Given the description of an element on the screen output the (x, y) to click on. 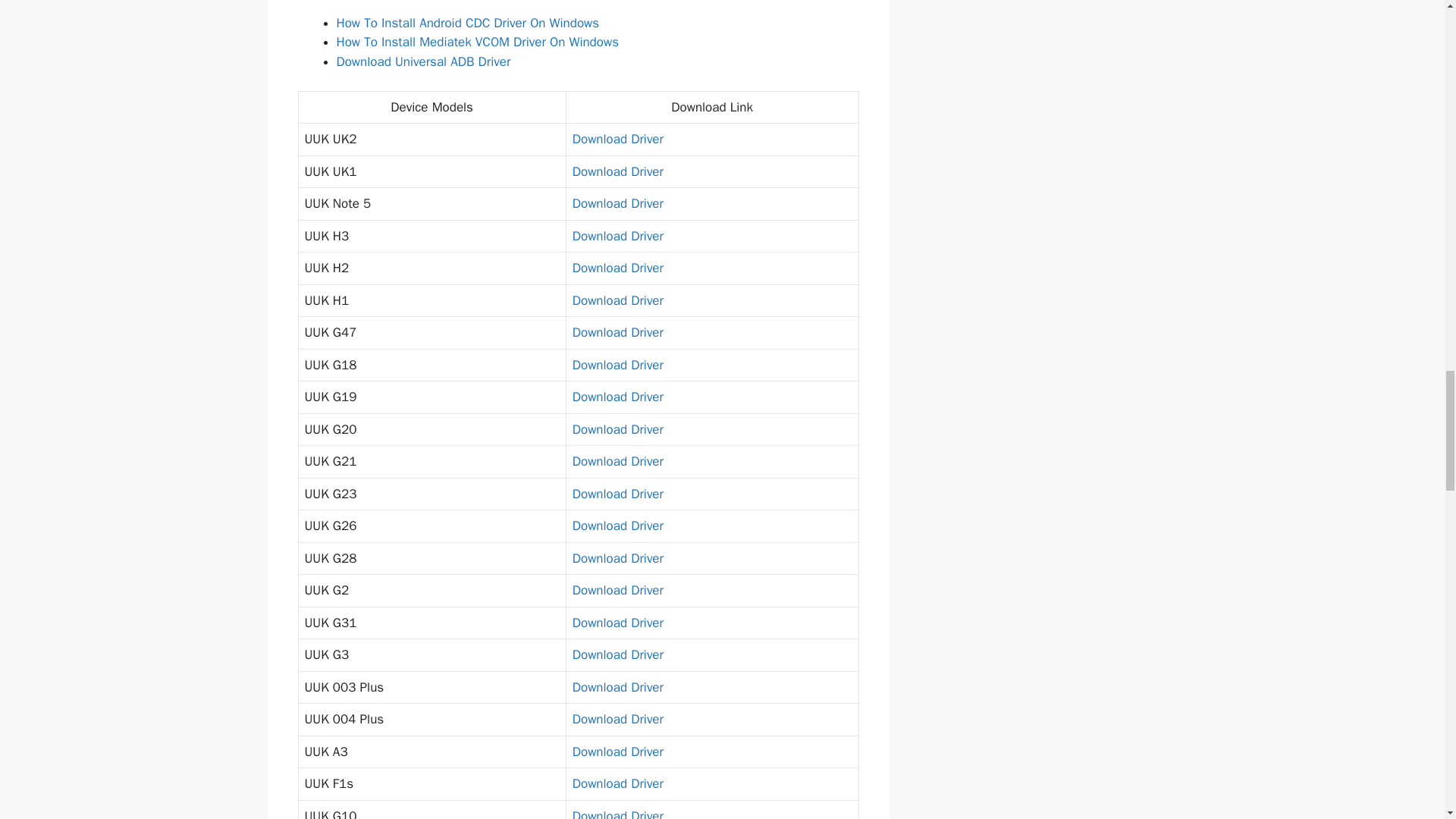
Download Driver (617, 396)
Download Driver (617, 494)
Download Driver (617, 365)
Download Universal ADB Driver (423, 61)
Download Driver (617, 268)
Download Driver (617, 300)
Download Driver (617, 525)
Download Driver (617, 332)
How To Install Mediatek VCOM Driver On Windows (477, 41)
How To Install Android CDC Driver On Windows (467, 23)
Download Driver (617, 461)
Download Driver (617, 203)
Download Driver (617, 139)
Download Driver (617, 236)
Download Driver (617, 171)
